Given the description of an element on the screen output the (x, y) to click on. 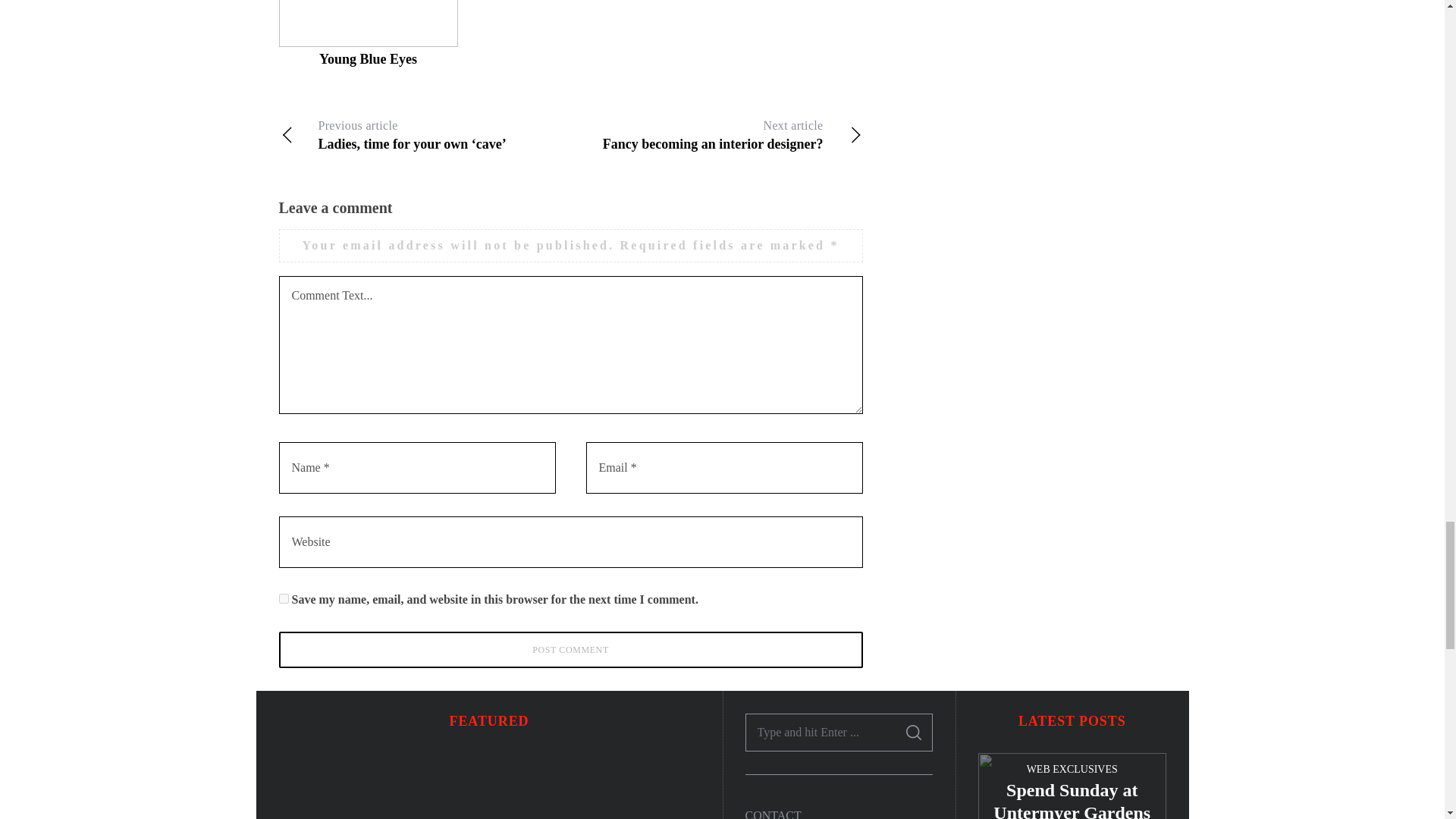
yes (283, 598)
Post Comment (571, 649)
